Given the description of an element on the screen output the (x, y) to click on. 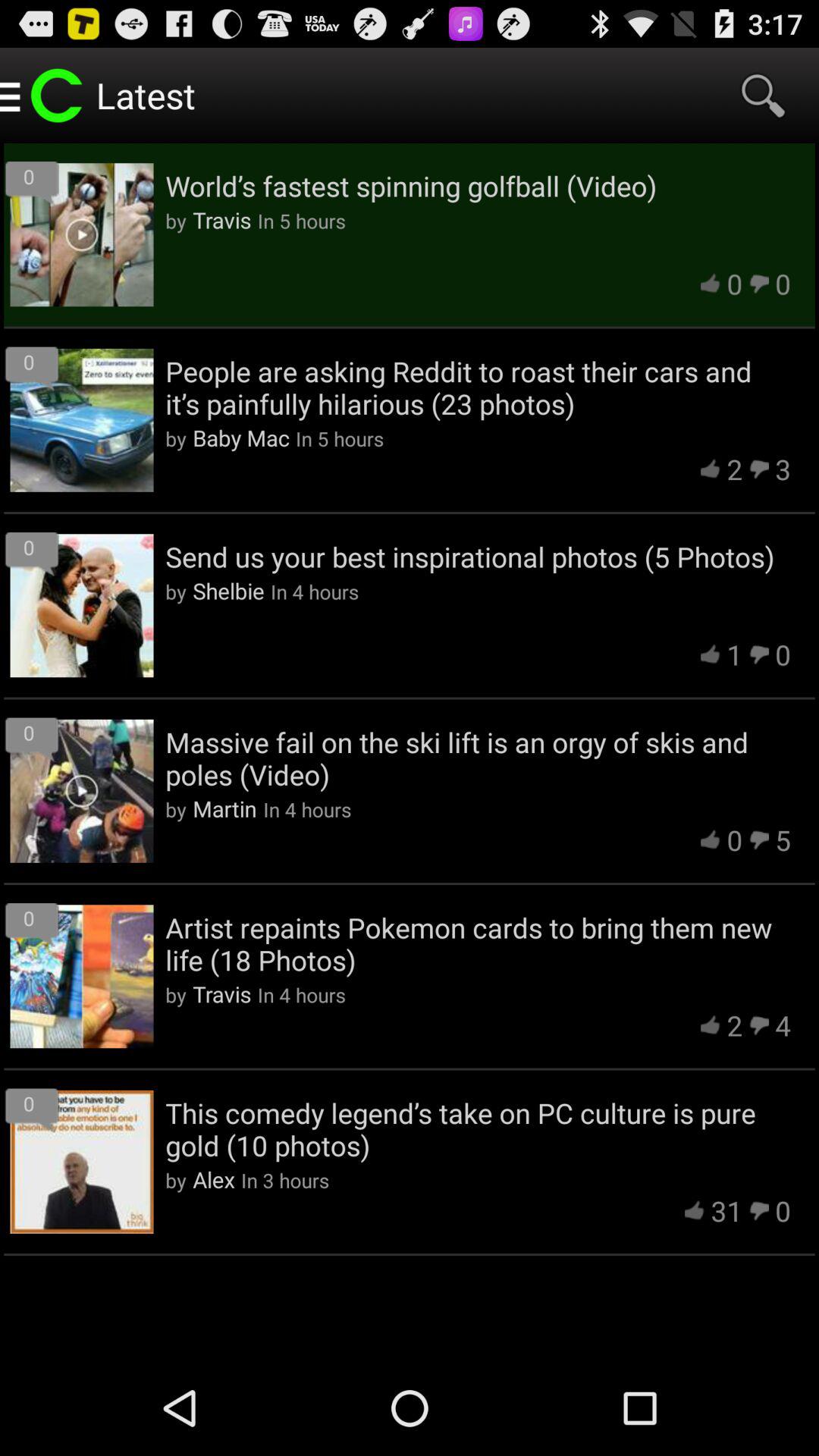
press app below the 0 item (478, 943)
